Given the description of an element on the screen output the (x, y) to click on. 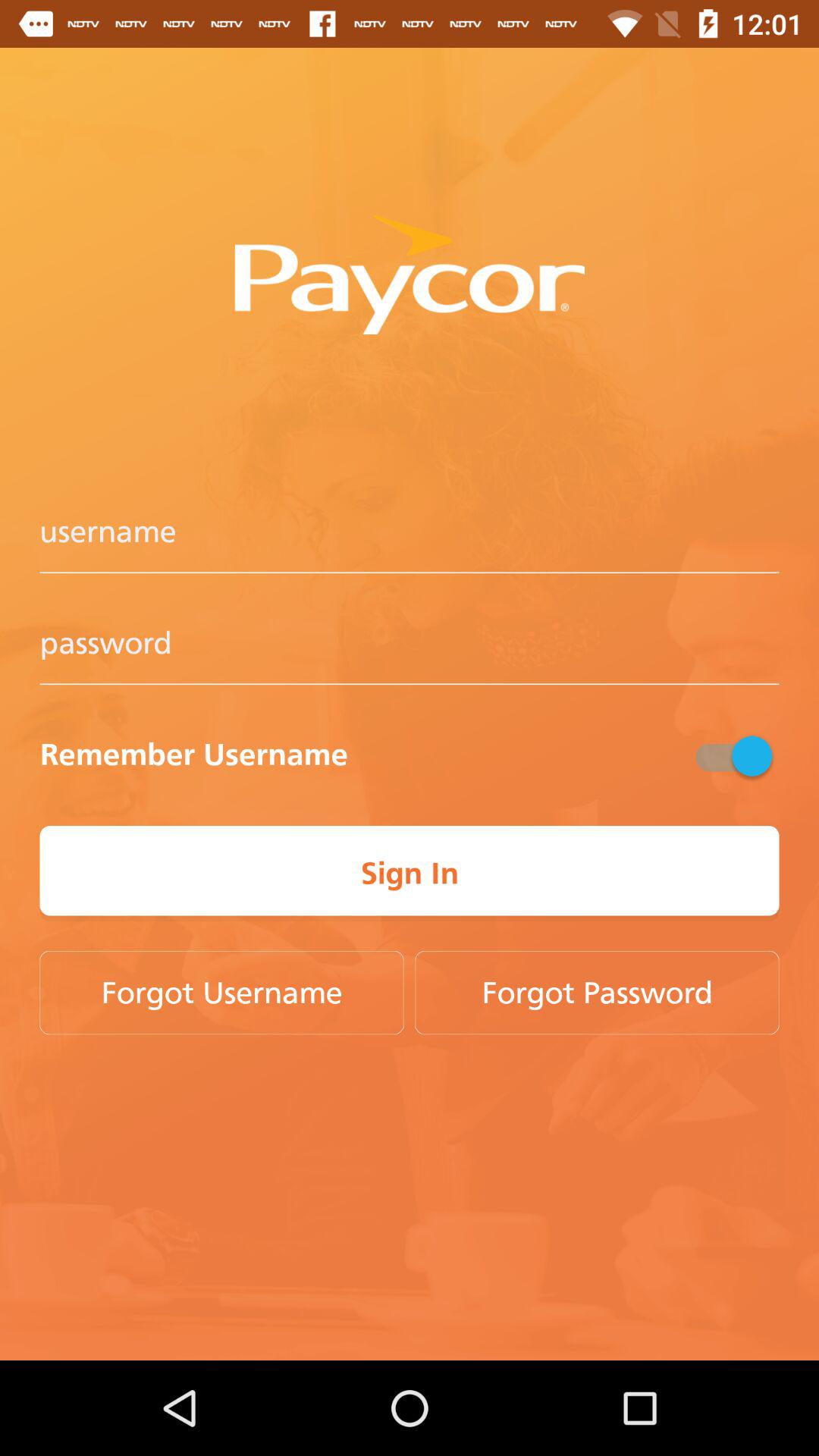
click the icon to the right of remember username icon (731, 755)
